Given the description of an element on the screen output the (x, y) to click on. 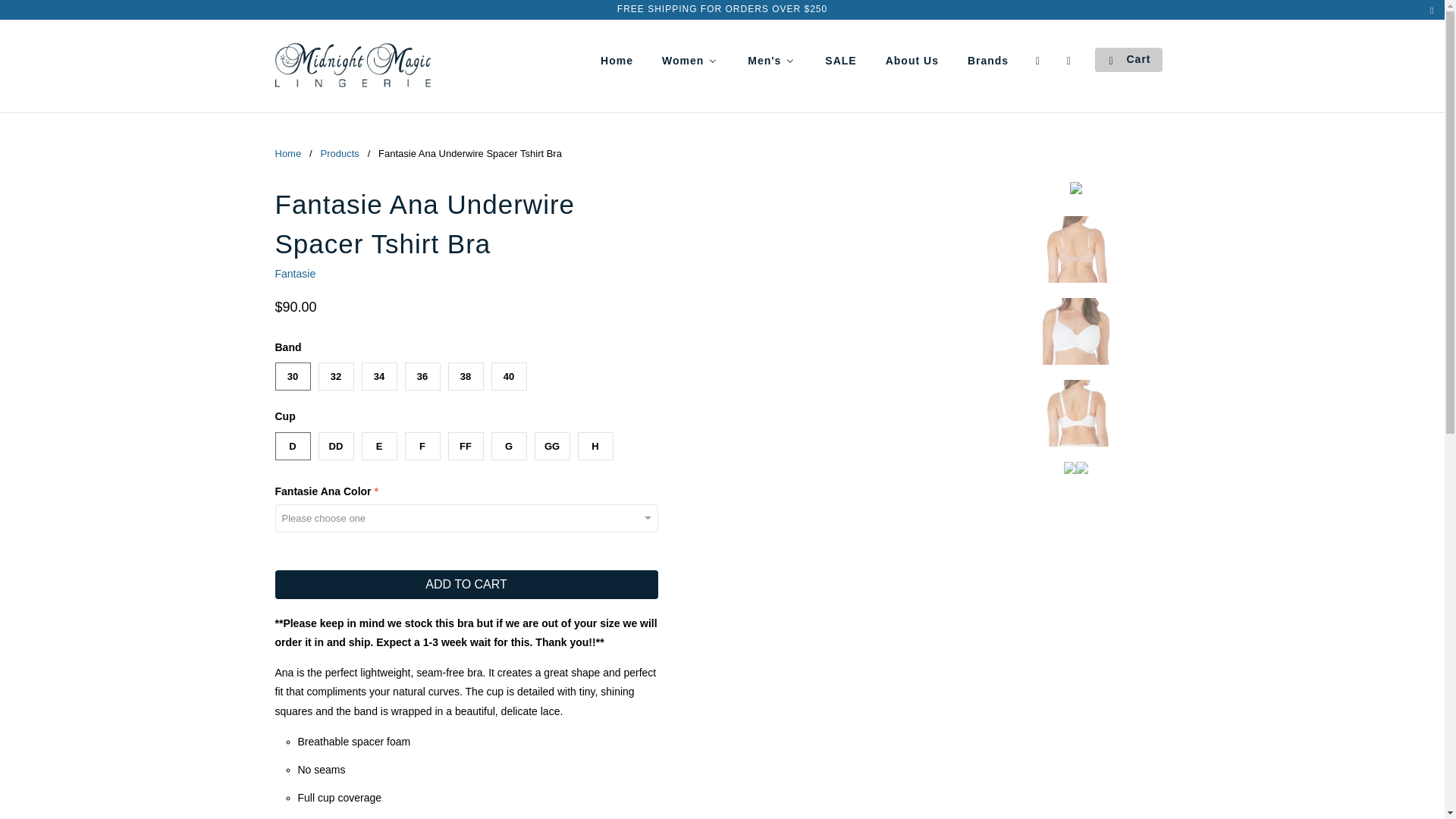
Products (339, 153)
Midnight Magic Lingerie (288, 153)
Fantasie (295, 273)
